Given the description of an element on the screen output the (x, y) to click on. 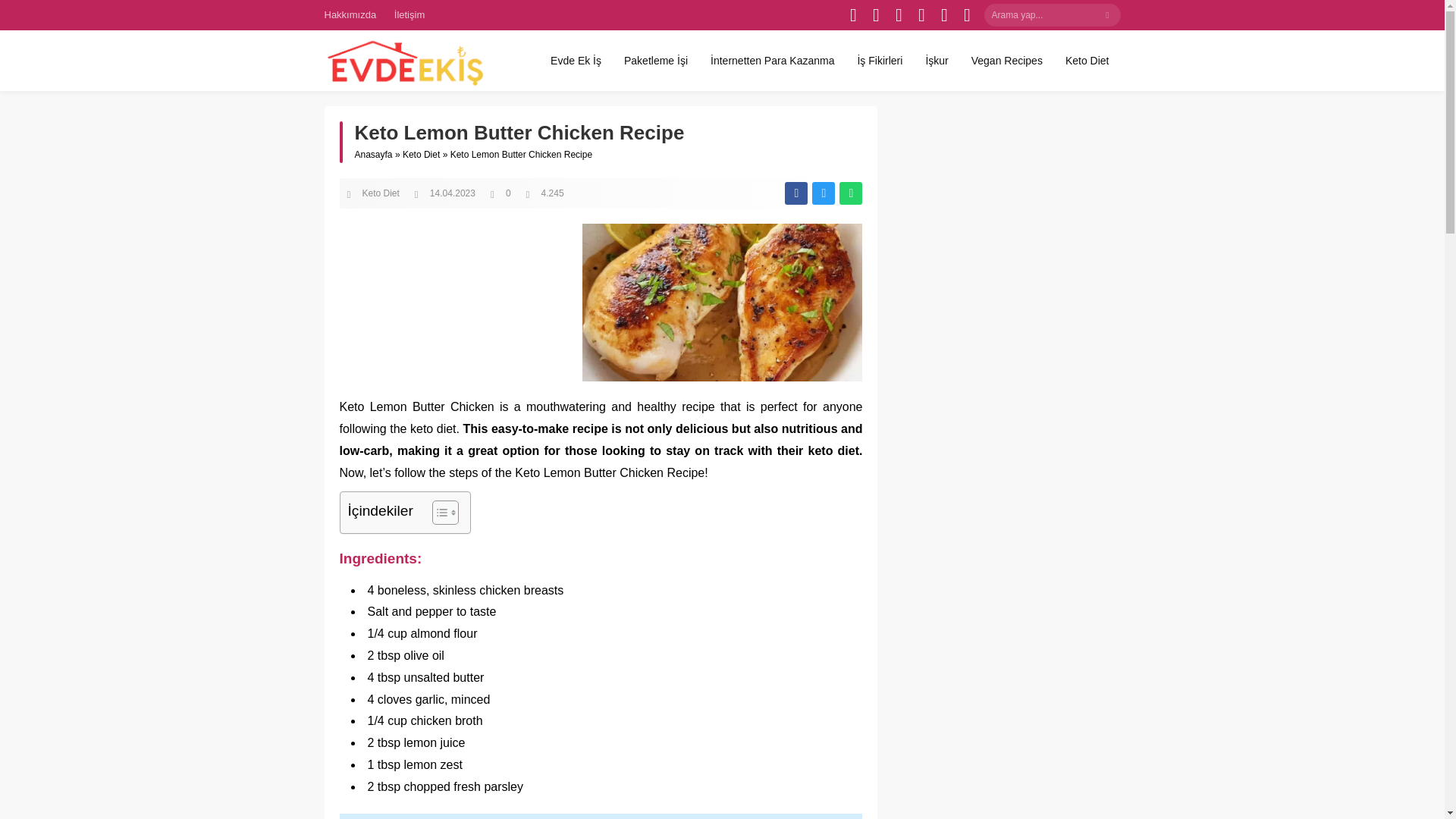
Evdeekis.com - Anasayfa (403, 60)
Keto Diet (380, 193)
Instagram (898, 14)
Pinterest (921, 14)
Tumblr (944, 14)
Anasayfa (374, 154)
Keto Diet (1087, 60)
Vegan Recipes (1006, 60)
Arama yap... (1052, 15)
Facebook (853, 14)
